Given the description of an element on the screen output the (x, y) to click on. 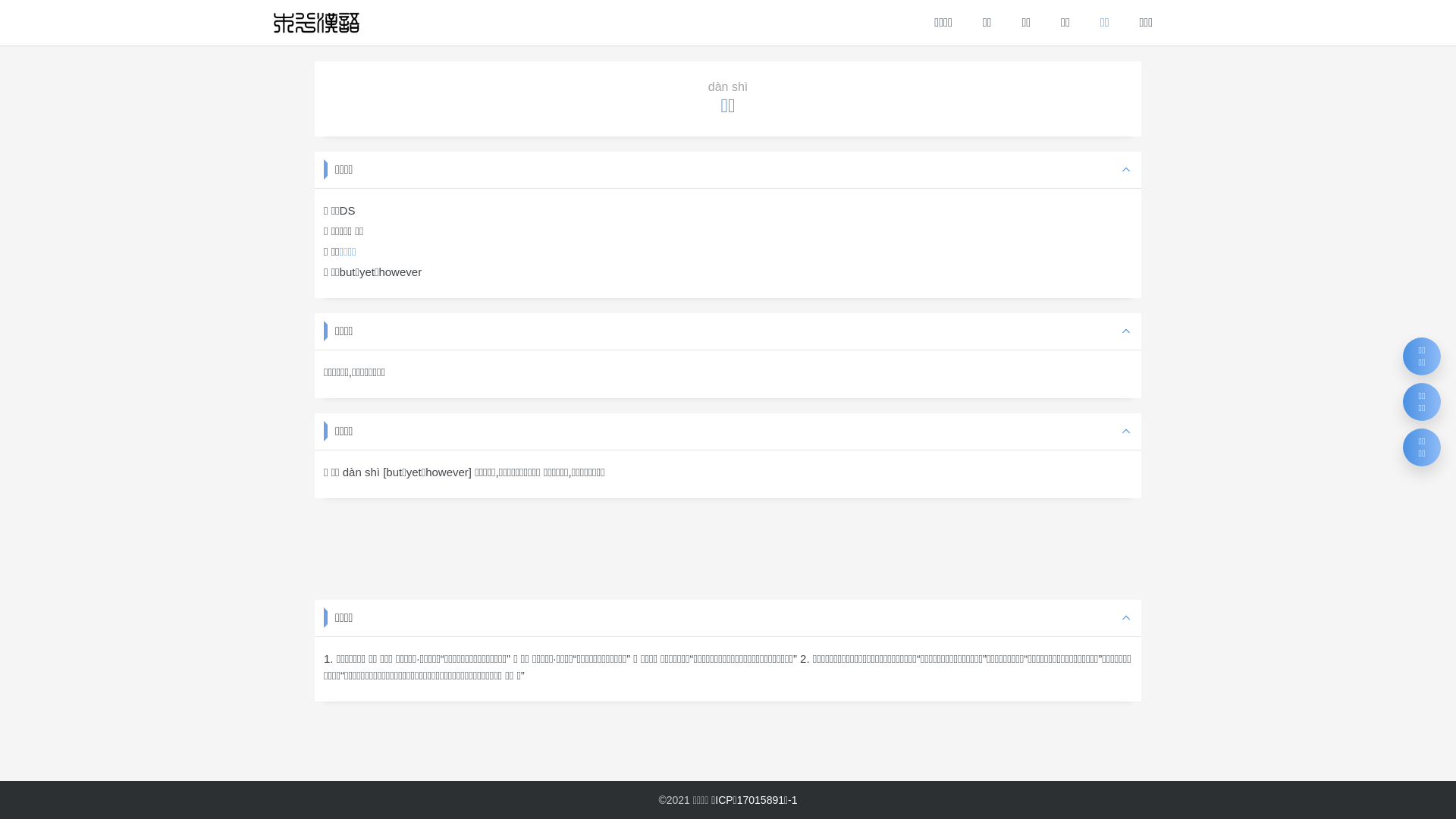
Advertisement Element type: hover (727, 547)
